Given the description of an element on the screen output the (x, y) to click on. 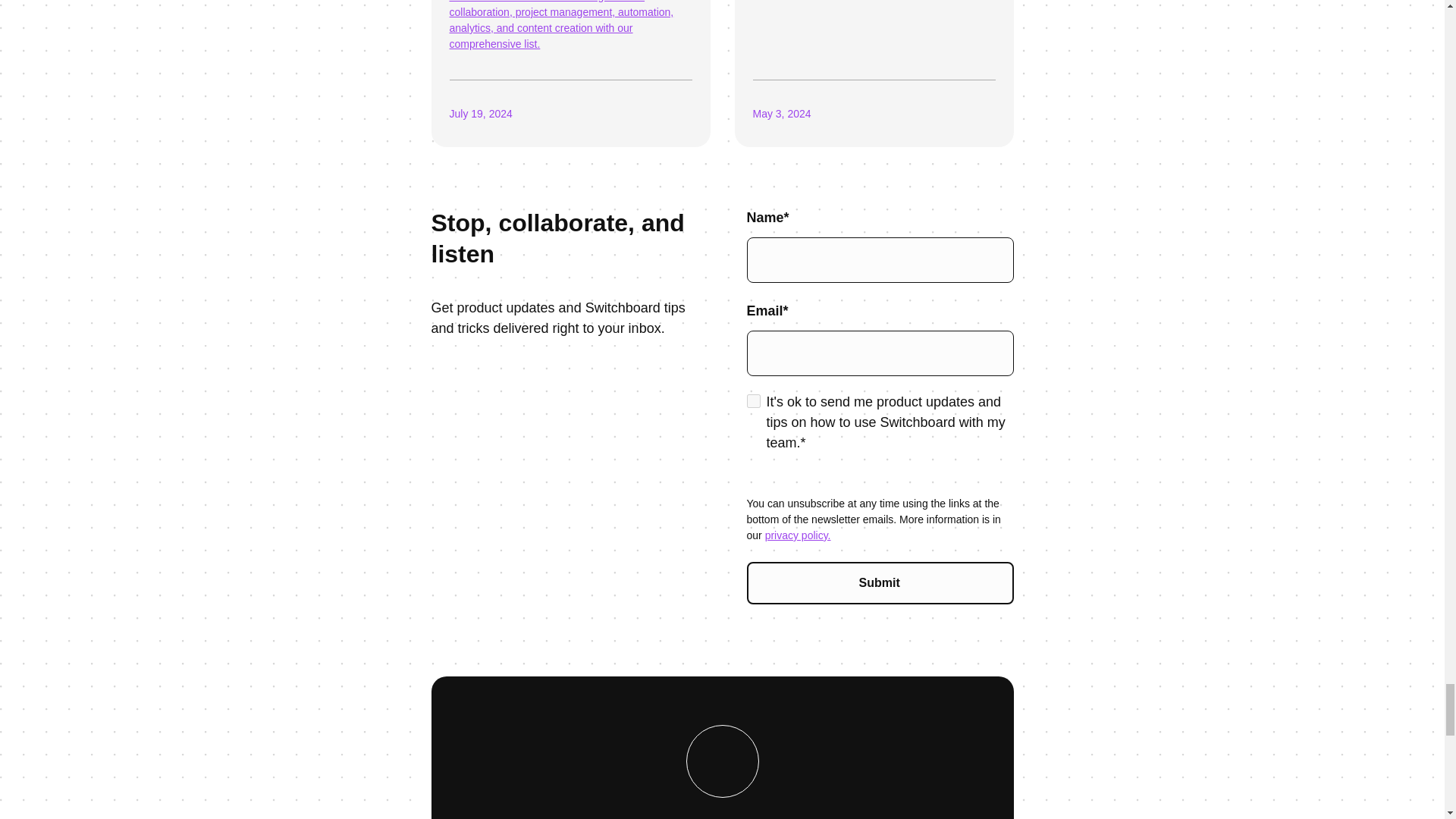
Submit (879, 582)
on (752, 400)
